Given the description of an element on the screen output the (x, y) to click on. 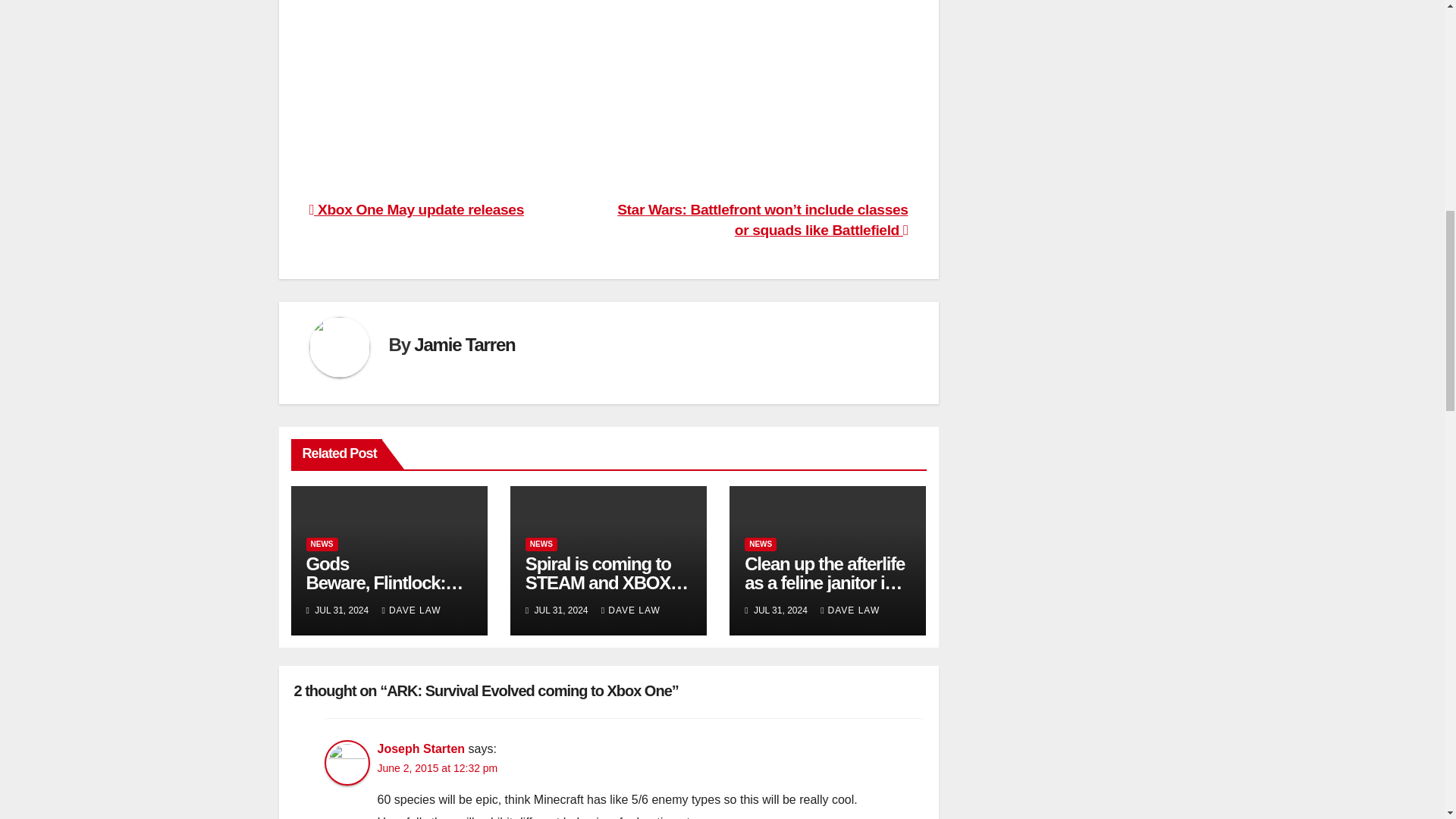
YouTube player (551, 87)
Xbox One May update releases (416, 209)
